Given the description of an element on the screen output the (x, y) to click on. 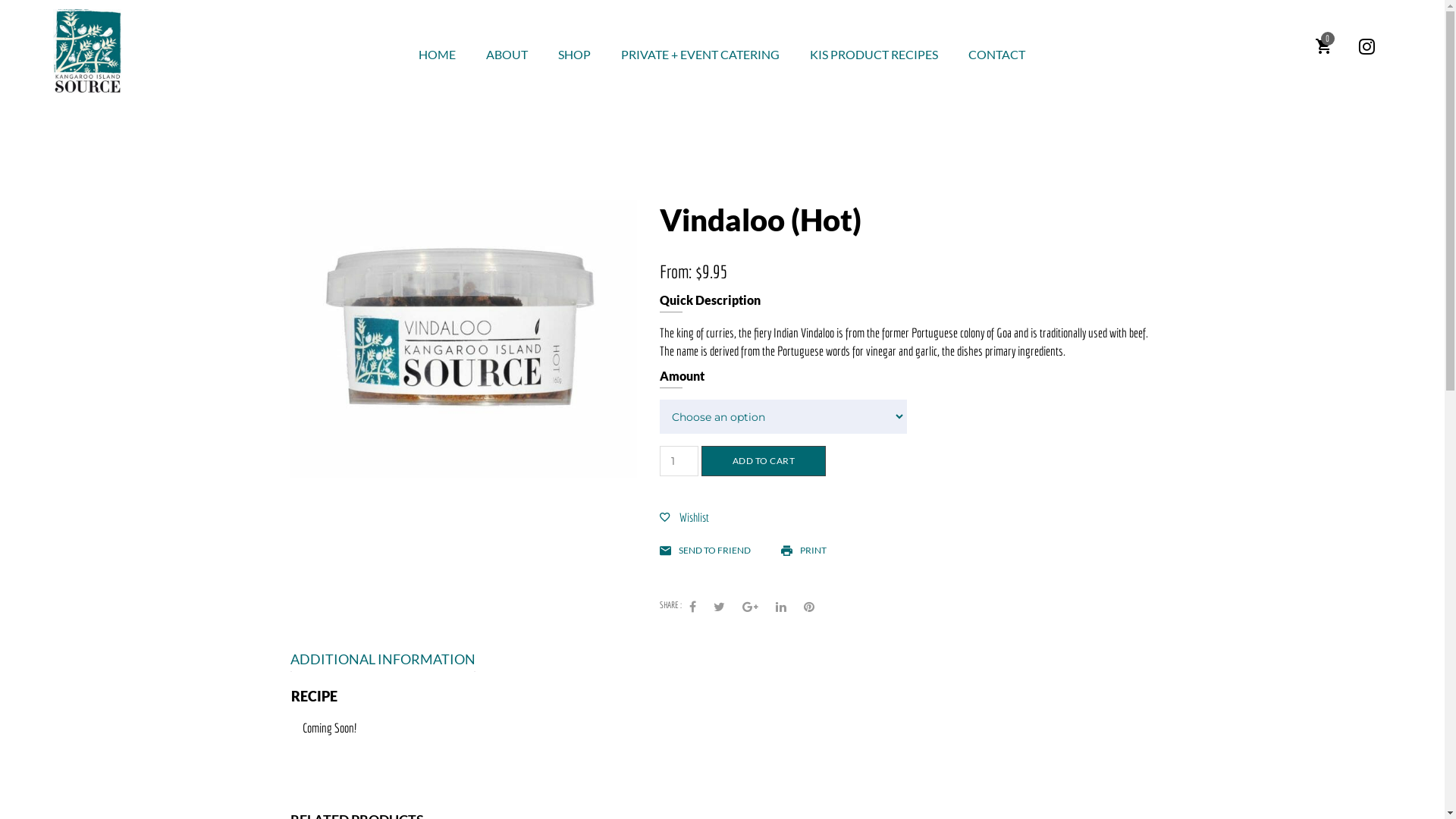
Instagram Element type: hover (1366, 45)
PRINT Element type: text (803, 550)
Facebook Element type: hover (692, 606)
PRIVATE + EVENT CATERING Element type: text (700, 54)
Pinterest Element type: hover (808, 606)
Qty Element type: hover (678, 460)
ADD TO CART Element type: text (763, 460)
CONTACT Element type: text (996, 54)
0 Element type: text (1322, 45)
KIS PRODUCT RECIPES Element type: text (873, 54)
Wishlist Element type: text (684, 517)
LinkedIn Element type: hover (780, 606)
SHOP Element type: text (574, 54)
Google + Element type: hover (750, 606)
HOME Element type: text (436, 54)
Twitter Element type: hover (718, 606)
SEND TO FRIEND Element type: text (704, 550)
ABOUT Element type: text (506, 54)
ADDITIONAL INFORMATION Element type: text (381, 659)
Kangaroo Island Source Element type: hover (87, 50)
